Given the description of an element on the screen output the (x, y) to click on. 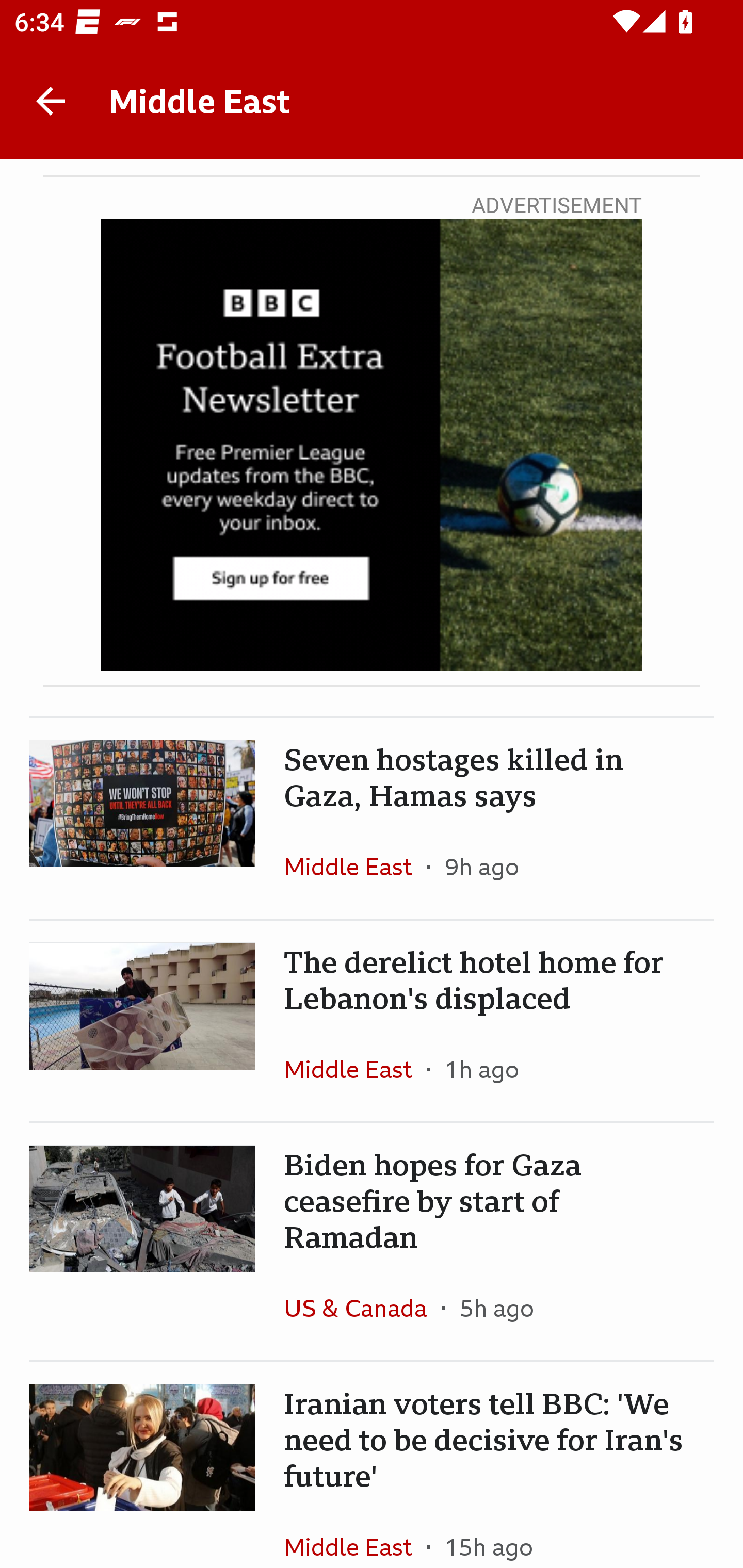
Back (50, 101)
Middle East In the section Middle East (354, 865)
Middle East In the section Middle East (354, 1069)
US & Canada In the section US & Canada (362, 1307)
Middle East In the section Middle East (354, 1531)
